Given the description of an element on the screen output the (x, y) to click on. 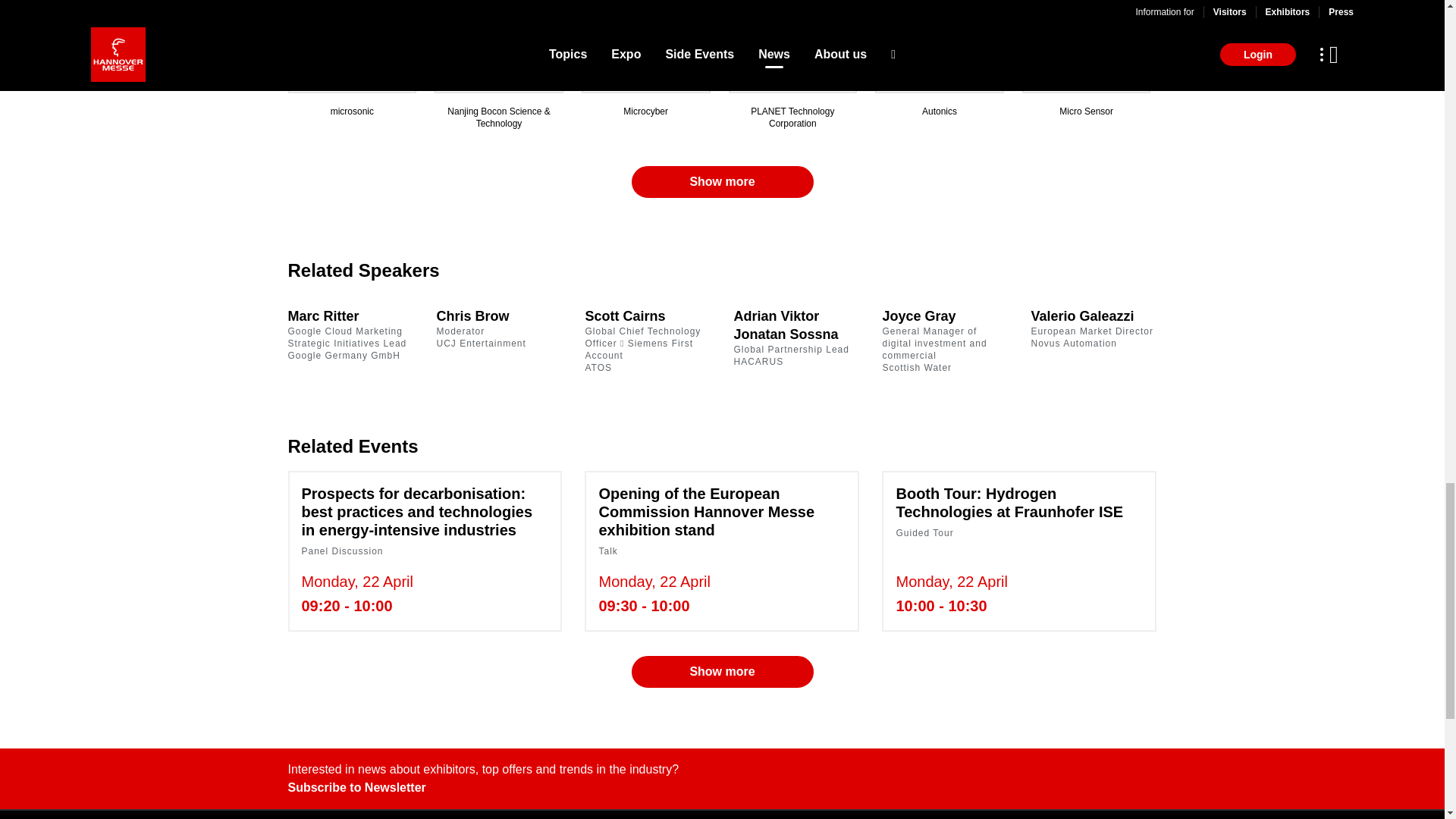
microsonic (352, 113)
PLANET Technology Corporation (792, 113)
Autonics (480, 334)
Show more (939, 113)
Micro Sensor (721, 182)
Microcyber (1086, 113)
